Given the description of an element on the screen output the (x, y) to click on. 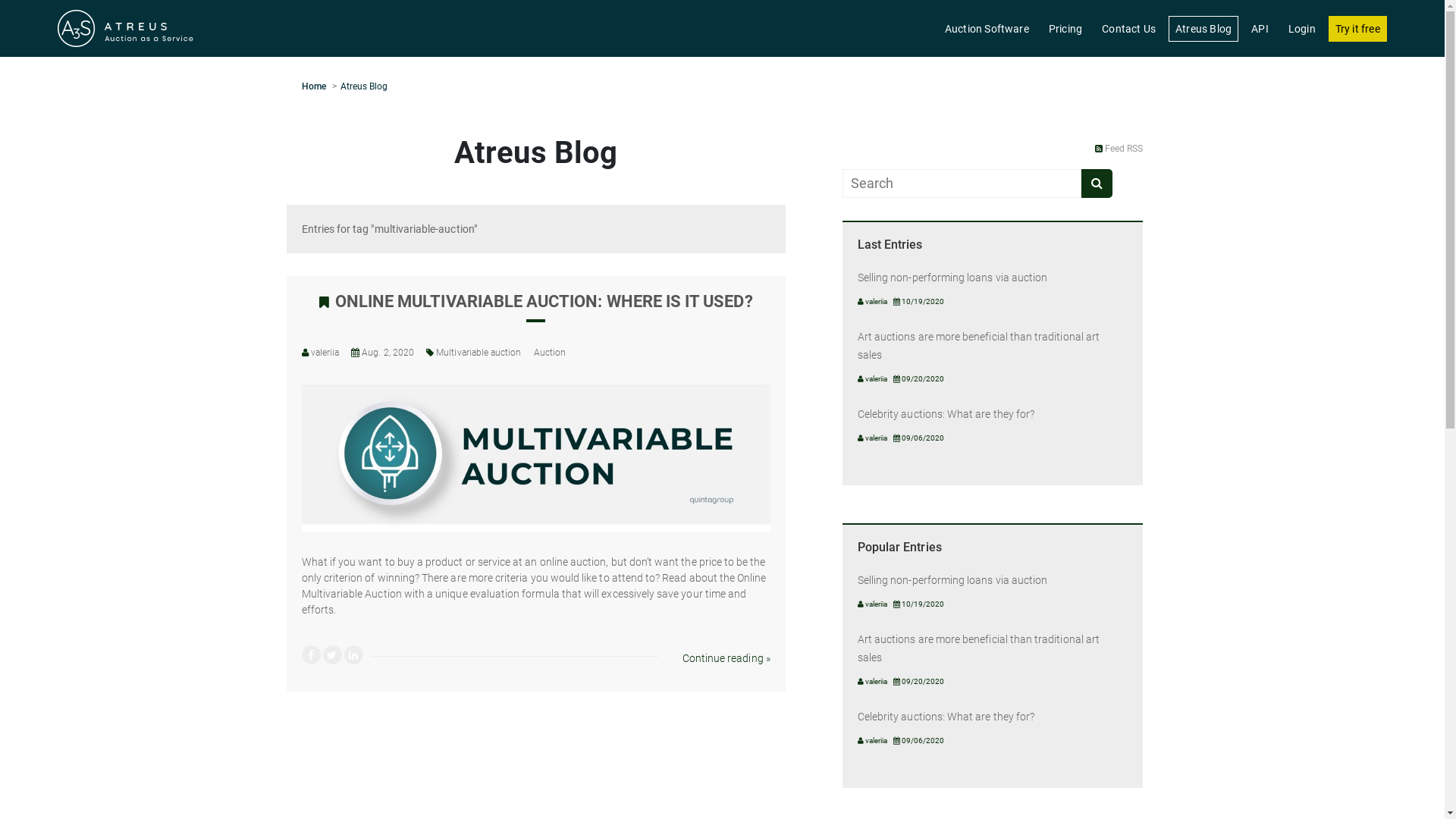
Try it free Element type: text (1357, 27)
Auction Element type: text (549, 352)
Contact Us Element type: text (1128, 27)
valeriia Element type: text (324, 352)
Auction Software Element type: text (986, 27)
Home Element type: text (313, 86)
Celebrity auctions: What are they for? Element type: text (945, 413)
Art auctions are more beneficial than traditional art sales Element type: text (978, 345)
Pricing Element type: text (1064, 27)
Feed RSS Element type: text (1119, 148)
Atreus Blog Element type: text (364, 86)
ONLINE MULTIVARIABLE AUCTION: WHERE IS IT USED? Element type: text (535, 306)
Login Element type: text (1301, 27)
Celebrity auctions: What are they for? Element type: text (945, 716)
Art auctions are more beneficial than traditional art sales Element type: text (978, 648)
Selling non-performing loans via auction Element type: text (952, 580)
Multivariable auction Element type: text (478, 352)
API Element type: text (1259, 27)
Selling non-performing loans via auction Element type: text (952, 277)
Atreus Blog
(current) Element type: text (1203, 27)
